Given the description of an element on the screen output the (x, y) to click on. 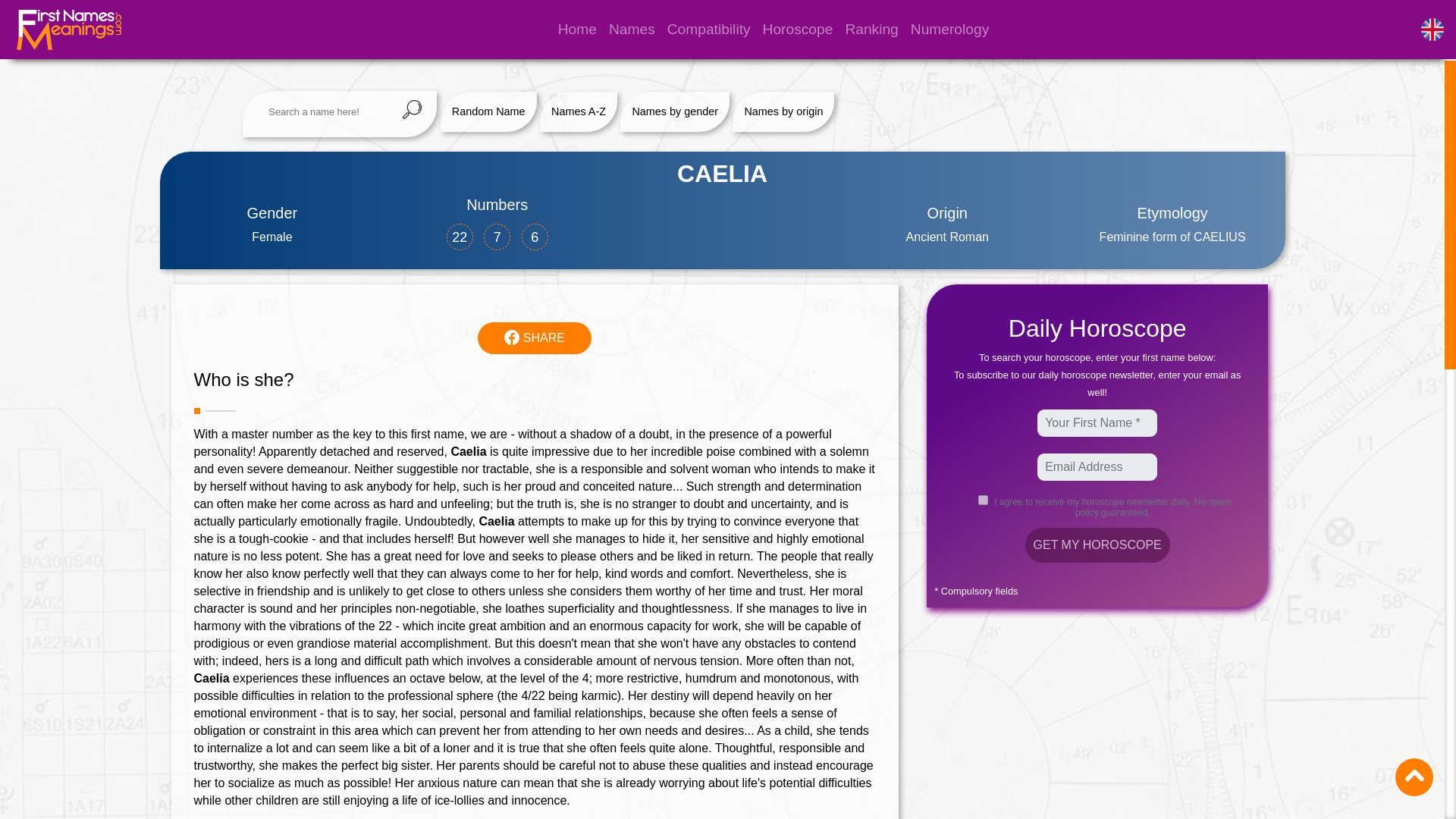
1 (983, 500)
Ranking (871, 29)
Names (631, 29)
GET MY HOROSCOPE (1097, 544)
Names A-Z (578, 111)
Compatibility (709, 29)
Names by gender (674, 111)
Random Name (488, 111)
Horoscope (798, 29)
SHARE (533, 337)
